Given the description of an element on the screen output the (x, y) to click on. 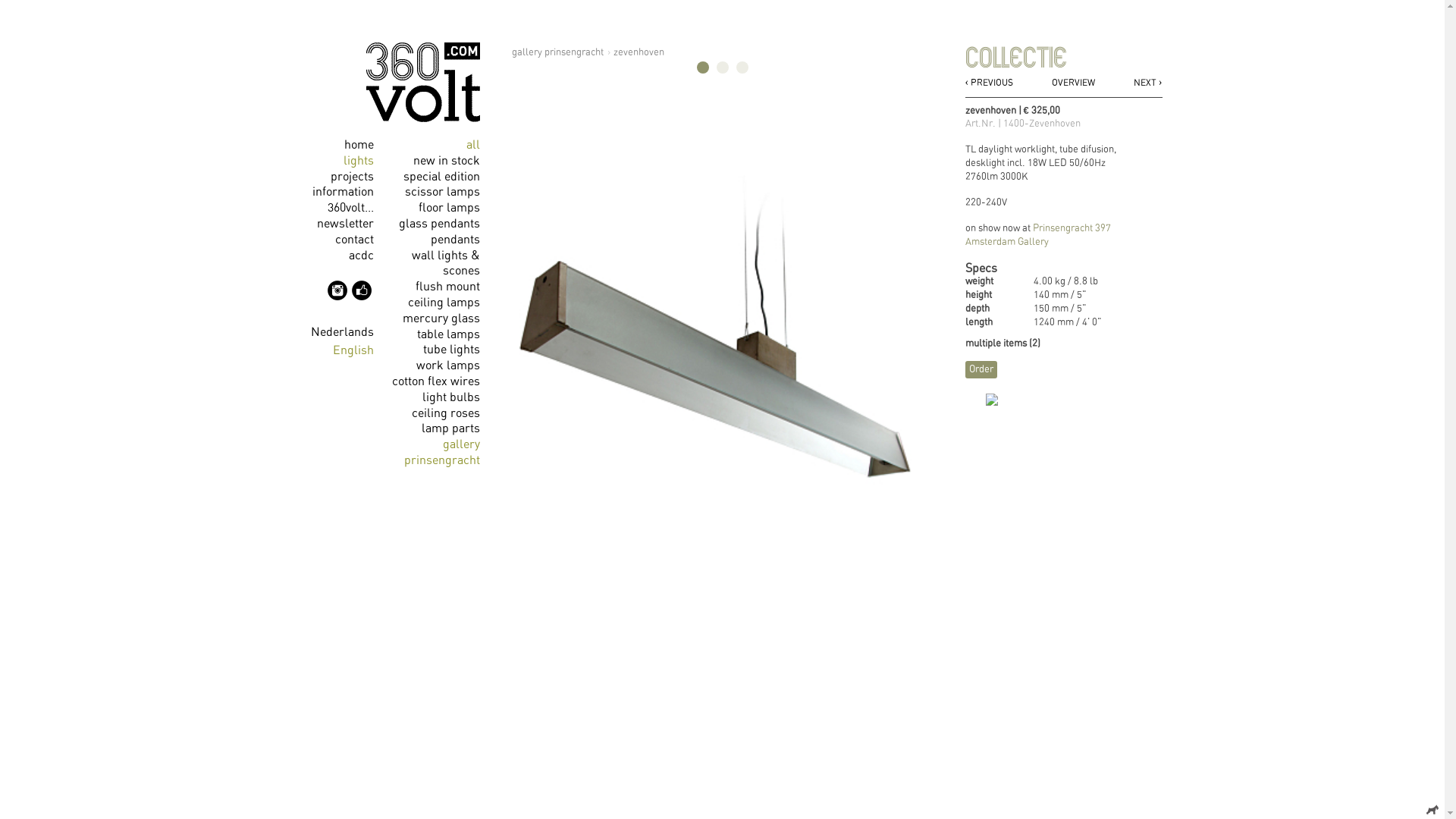
projects Element type: text (351, 176)
glass pendants Element type: text (439, 223)
wall lights & scones Element type: text (445, 263)
table lamps Element type: text (448, 334)
ceiling roses Element type: text (445, 413)
lights Element type: text (357, 160)
Order Element type: text (980, 369)
special edition Element type: text (441, 176)
flush mount ceiling lamps Element type: text (443, 294)
English Element type: text (352, 350)
light bulbs Element type: text (450, 397)
scissor lamps Element type: text (442, 191)
home Element type: text (358, 144)
new in stock Element type: text (445, 160)
all Element type: text (472, 144)
gallery prinsengracht Element type: text (556, 52)
OVERVIEW Element type: text (1062, 82)
acdc Element type: text (360, 255)
360volt... Element type: text (350, 207)
Prinsengracht 397 Amsterdam Gallery Element type: text (1037, 235)
gallery prinsengracht Element type: text (441, 452)
newsletter Element type: text (344, 223)
work lamps Element type: text (447, 365)
zevenhoven Element type: text (637, 52)
information Element type: text (342, 191)
Nederlands Element type: text (341, 332)
cotton flex wires Element type: text (435, 381)
mercury glass Element type: text (440, 318)
pendants Element type: text (455, 239)
lamp parts Element type: text (450, 428)
contact Element type: text (354, 239)
tube lights Element type: text (451, 349)
floor lamps Element type: text (449, 207)
